Given the description of an element on the screen output the (x, y) to click on. 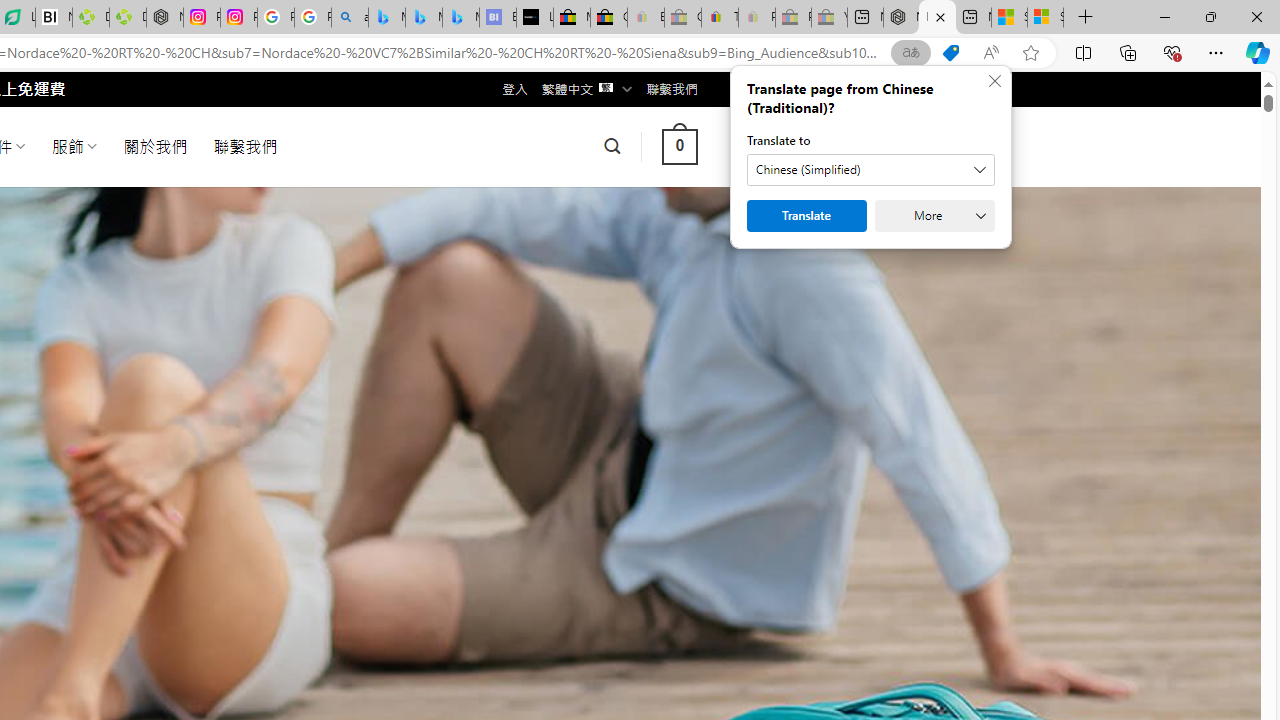
Shanghai, China hourly forecast | Microsoft Weather (1009, 17)
Yard, Garden & Outdoor Living - Sleeping (829, 17)
Press Room - eBay Inc. - Sleeping (793, 17)
Microsoft Bing Travel - Shangri-La Hotel Bangkok (460, 17)
Nordace - Summer Adventures 2024 (937, 17)
